Given the description of an element on the screen output the (x, y) to click on. 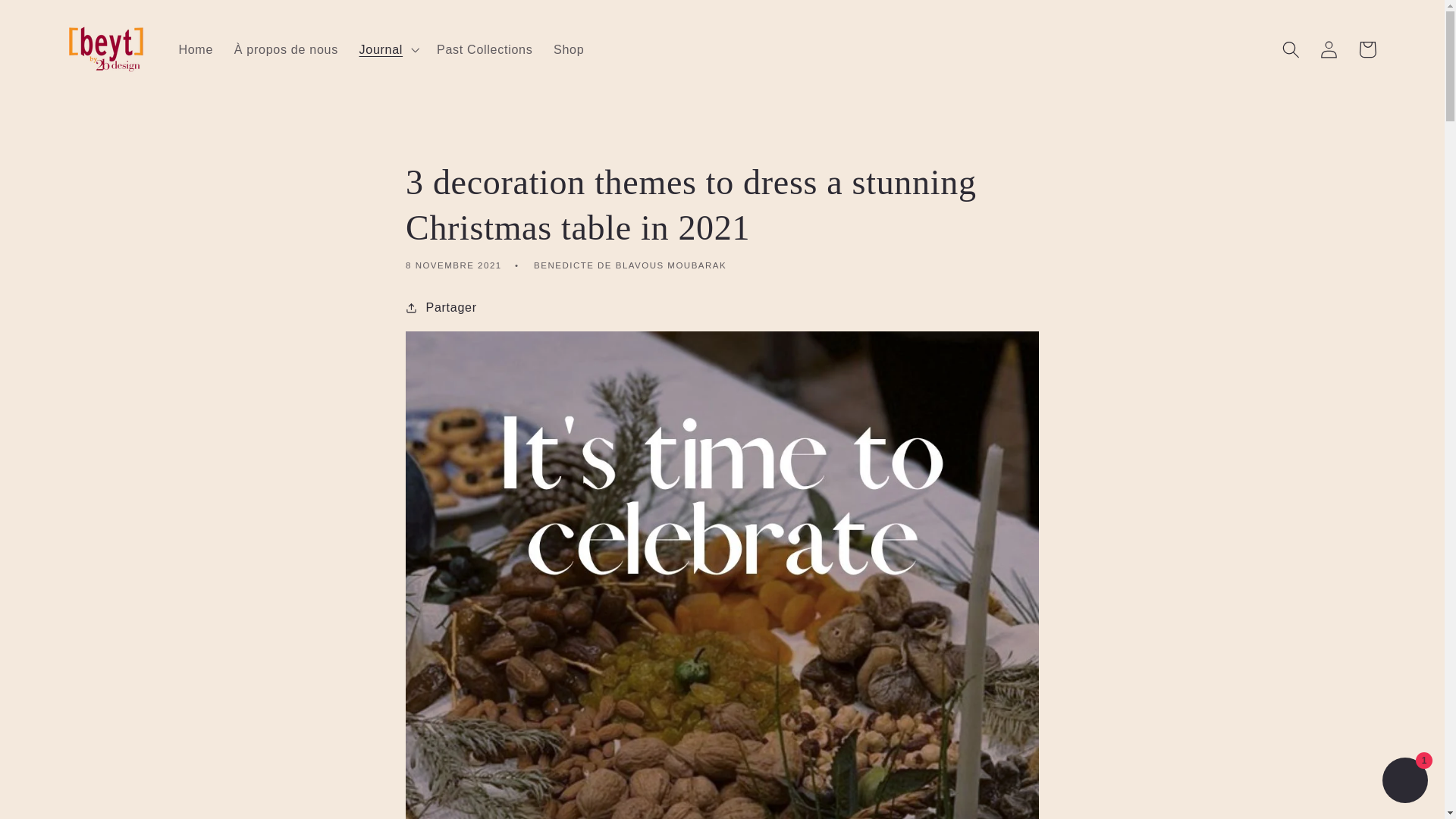
Panier (1367, 49)
Home (196, 49)
Connexion (1329, 49)
Ignorer et passer au contenu (51, 19)
Past Collections (484, 49)
Chat de la boutique en ligne Shopify (1404, 781)
Shop (568, 49)
